Given the description of an element on the screen output the (x, y) to click on. 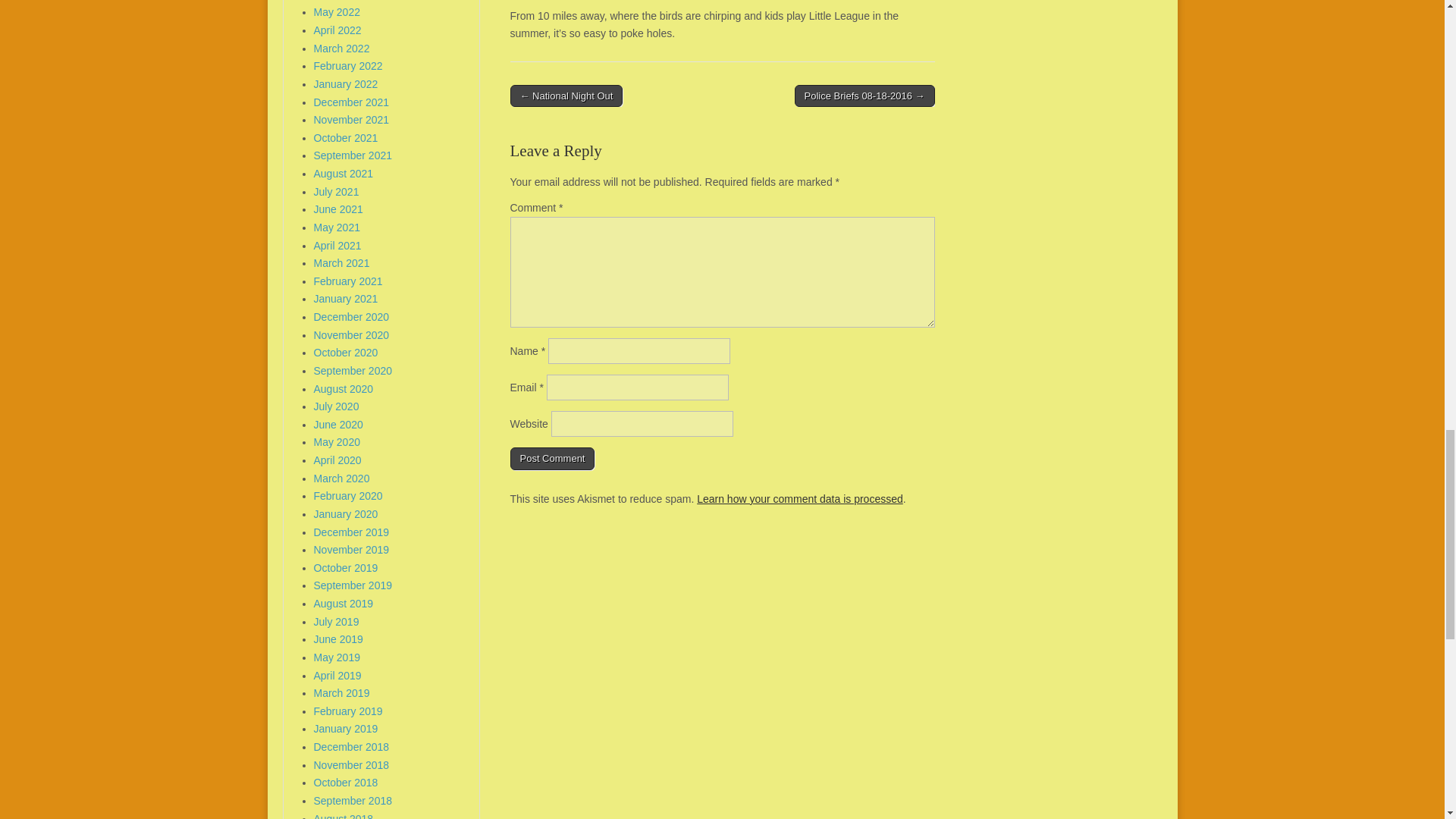
Post Comment (551, 458)
Post Comment (551, 458)
Learn how your comment data is processed (799, 499)
